Given the description of an element on the screen output the (x, y) to click on. 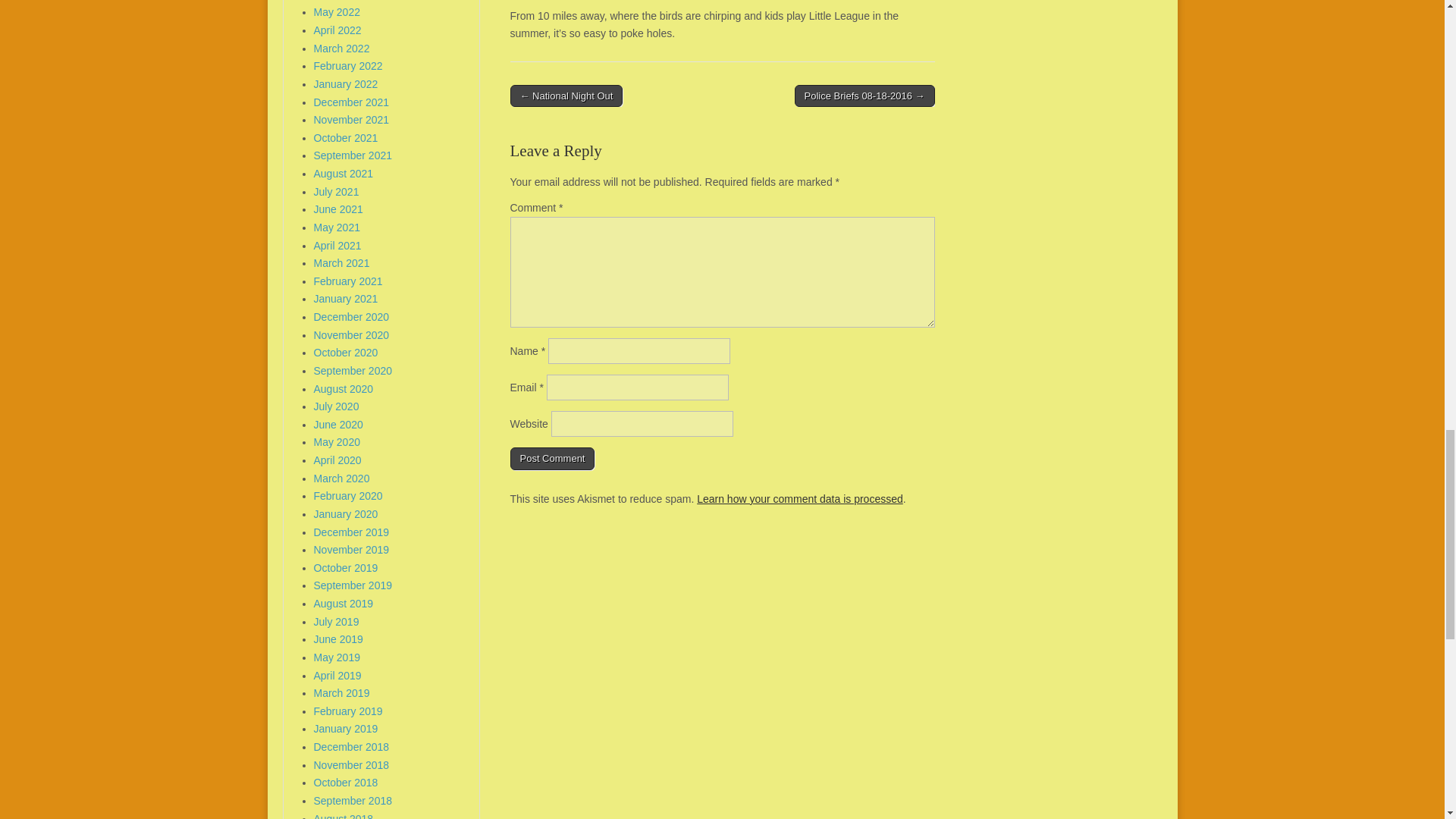
Post Comment (551, 458)
Post Comment (551, 458)
Learn how your comment data is processed (799, 499)
